Given the description of an element on the screen output the (x, y) to click on. 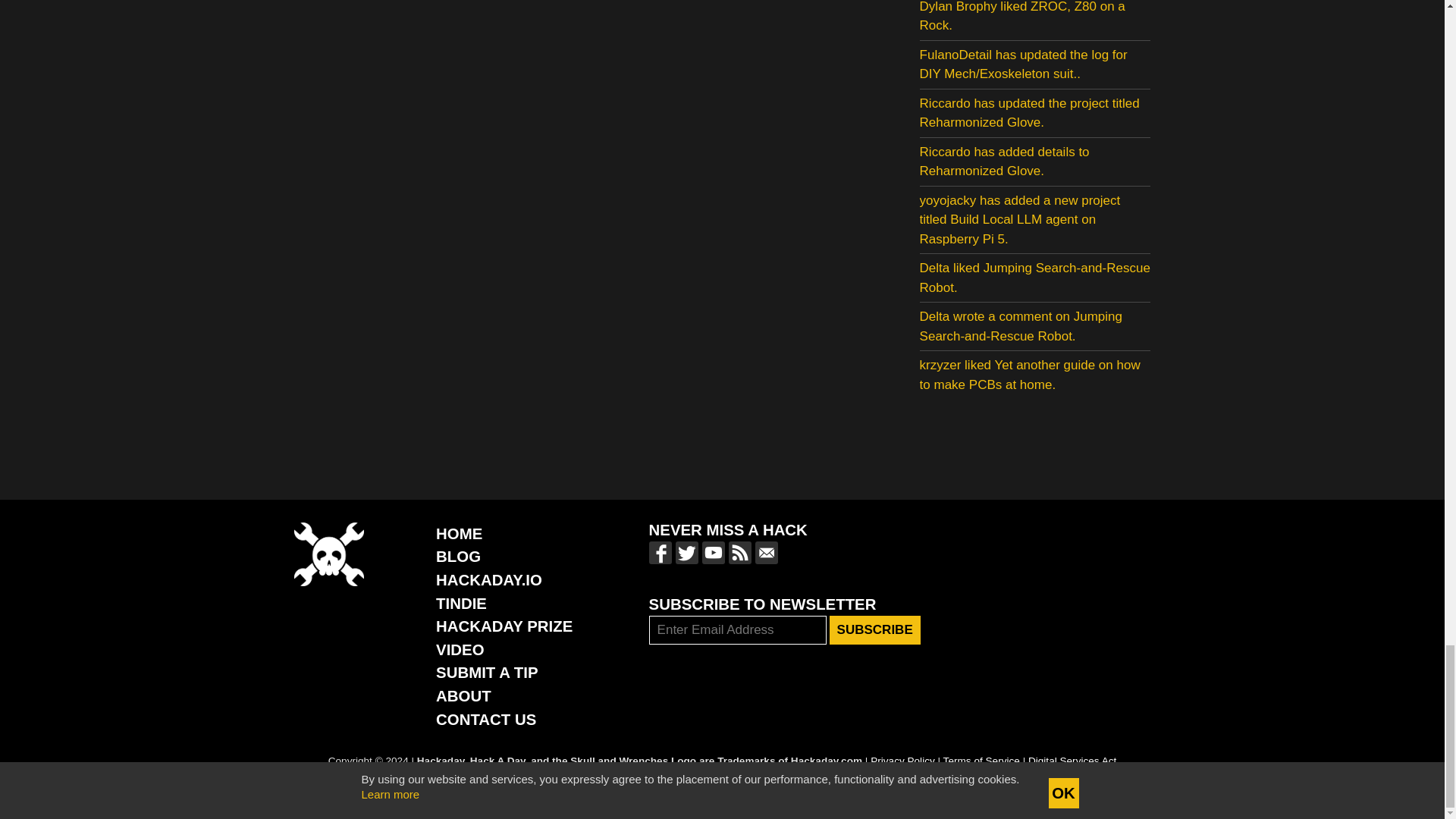
Build Something that Matters (503, 626)
Subscribe (874, 629)
